Given the description of an element on the screen output the (x, y) to click on. 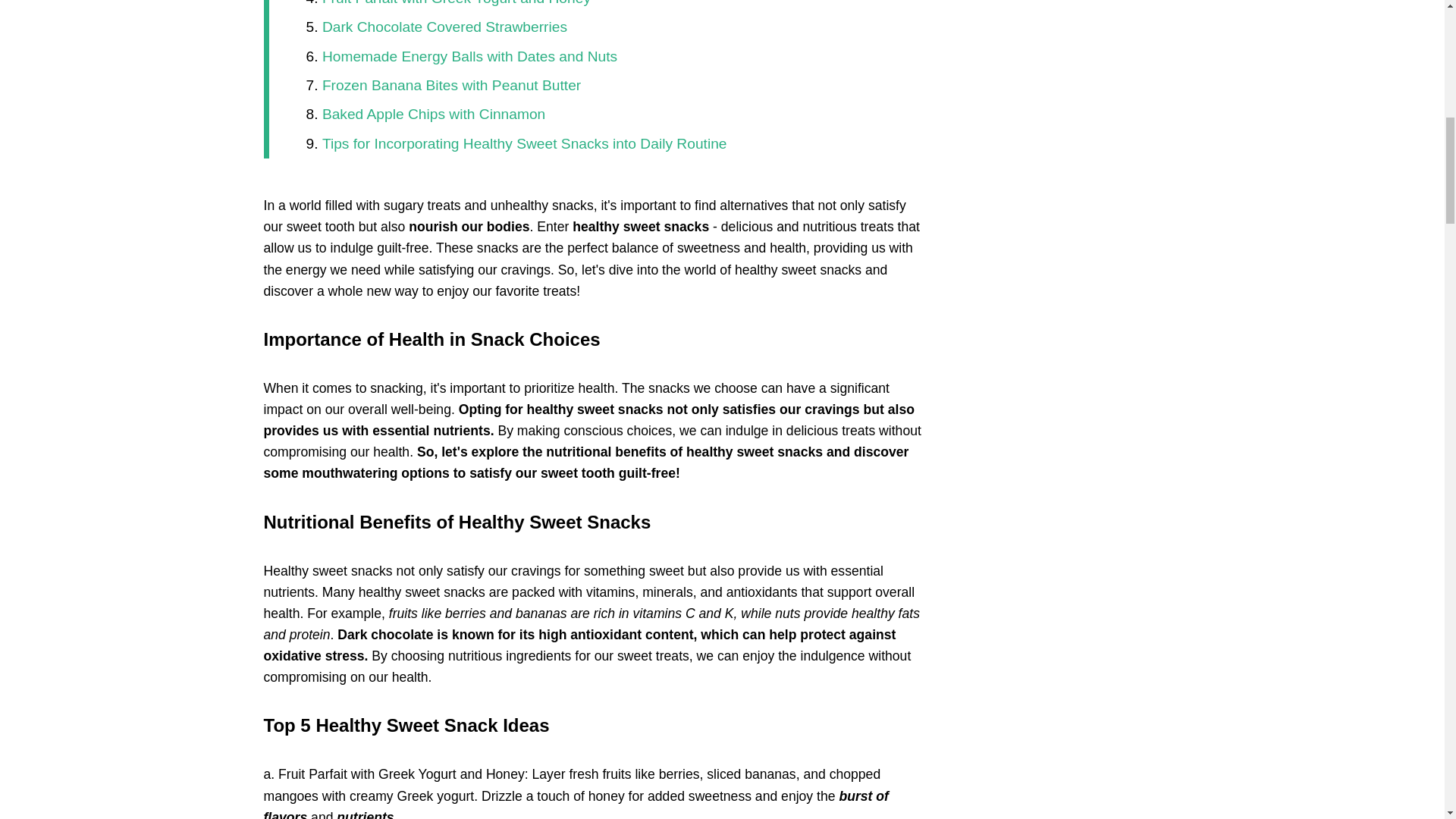
Frozen Banana Bites with Peanut Butter (450, 84)
Fruit Parfait with Greek Yogurt and Honey (456, 2)
Homemade Energy Balls with Dates and Nuts (469, 56)
Dark Chocolate Covered Strawberries (444, 26)
Baked Apple Chips with Cinnamon (432, 114)
